Given the description of an element on the screen output the (x, y) to click on. 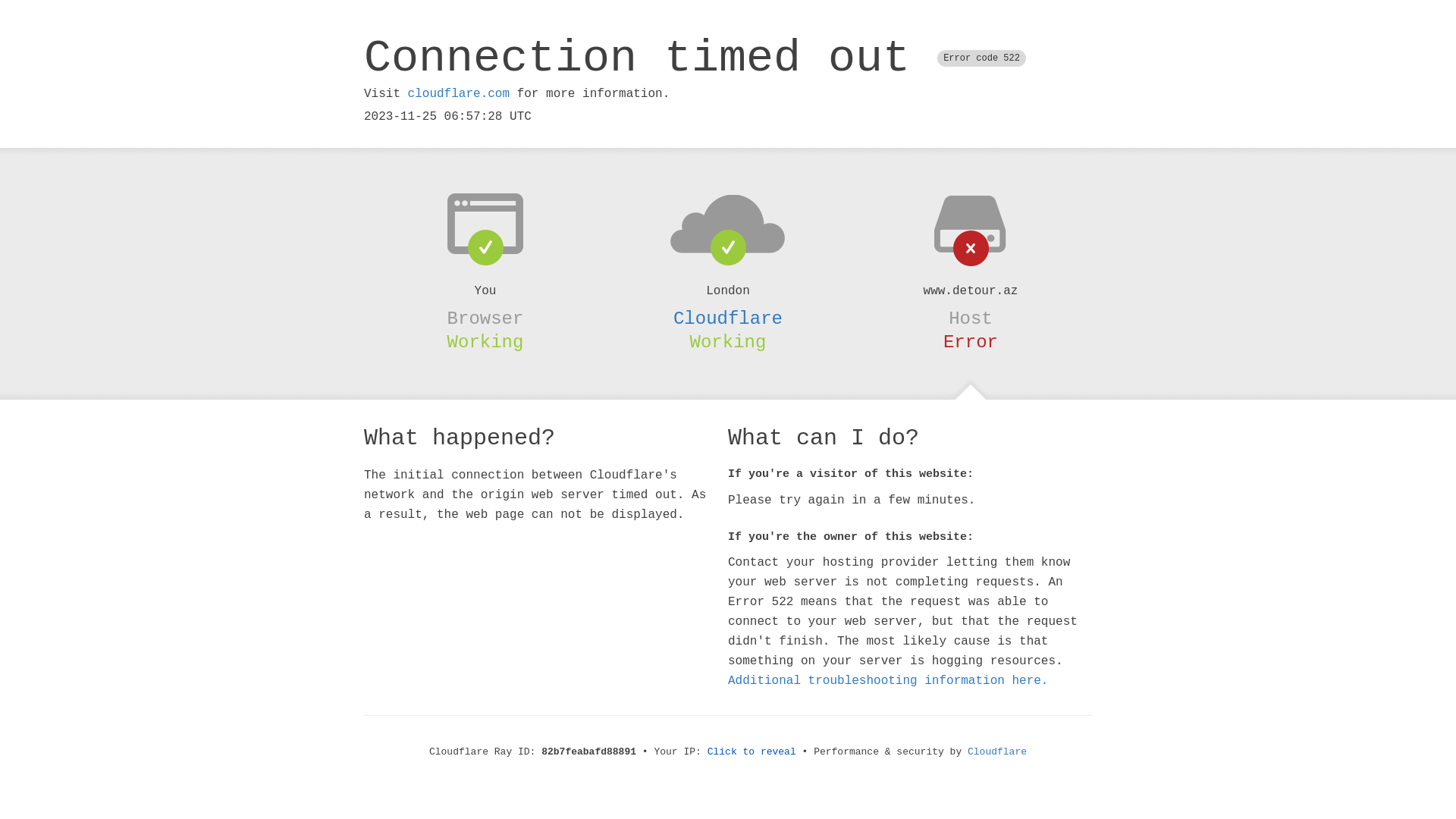
Cloudflare Element type: text (727, 318)
Additional troubleshooting information here. Element type: text (888, 680)
Click to reveal Element type: text (751, 751)
Cloudflare Element type: text (996, 751)
cloudflare.com Element type: text (458, 93)
